Given the description of an element on the screen output the (x, y) to click on. 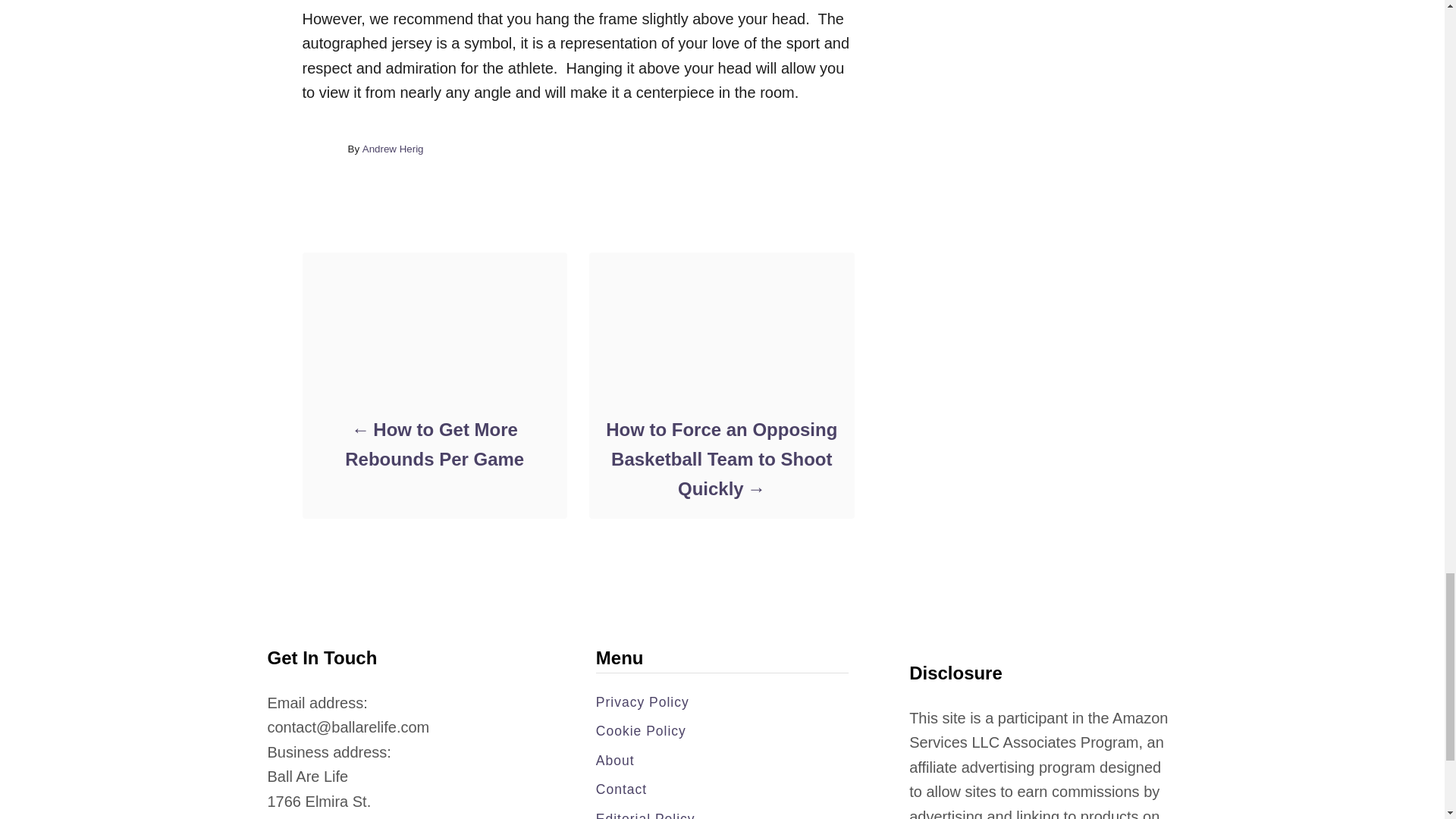
How to Force an Opposing Basketball Team to Shoot Quickly (721, 458)
Contact (721, 789)
About (721, 760)
Cookie Policy (721, 731)
Andrew Herig (392, 148)
How to Get More Rebounds Per Game (434, 444)
Editorial Policy (721, 813)
Privacy Policy (721, 701)
